Given the description of an element on the screen output the (x, y) to click on. 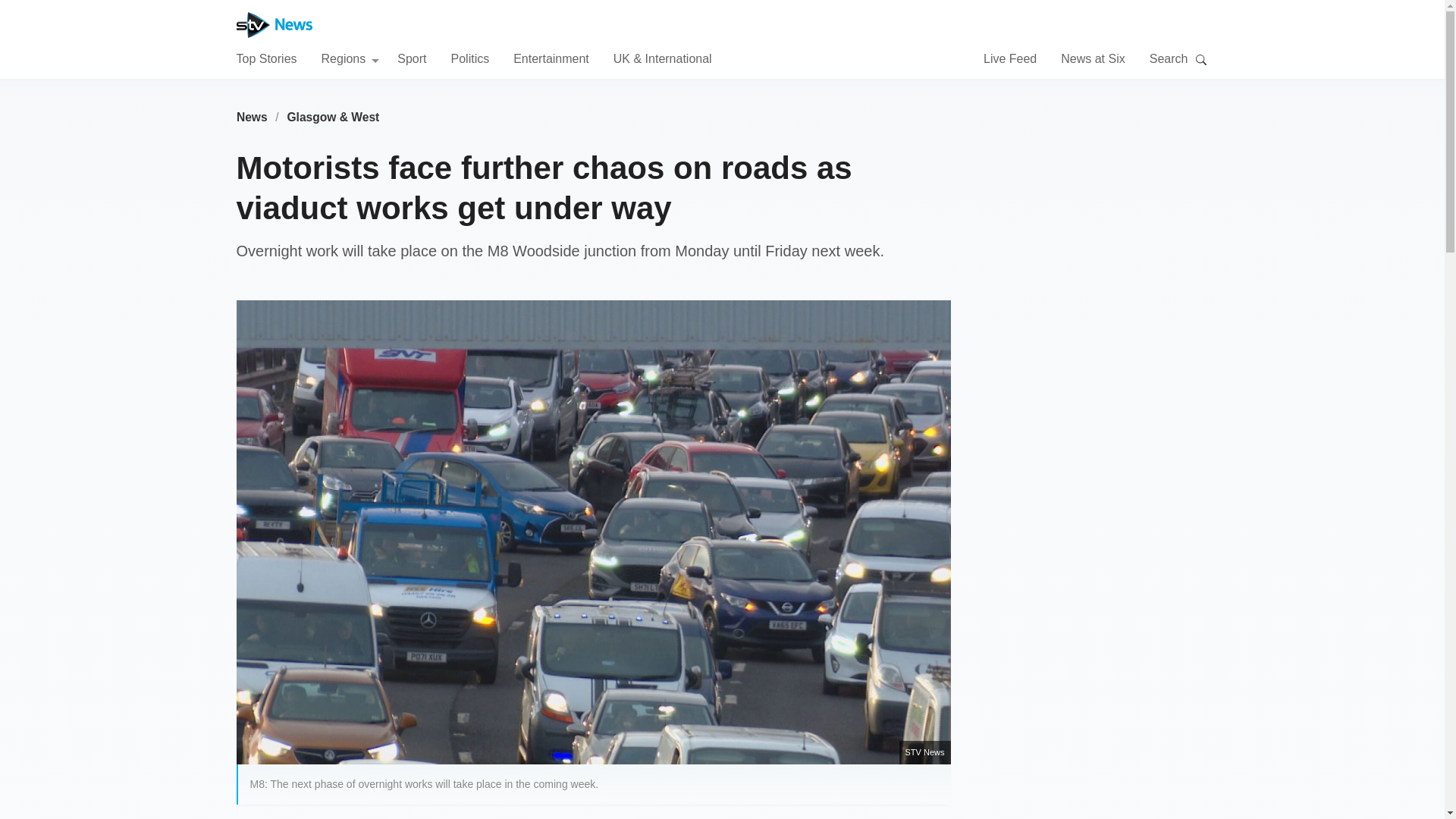
Politics (469, 57)
Top Stories (266, 57)
Live Feed (1010, 57)
News at Six (1092, 57)
Entertainment (551, 57)
Regions (350, 57)
Search (1201, 59)
News (252, 116)
